Given the description of an element on the screen output the (x, y) to click on. 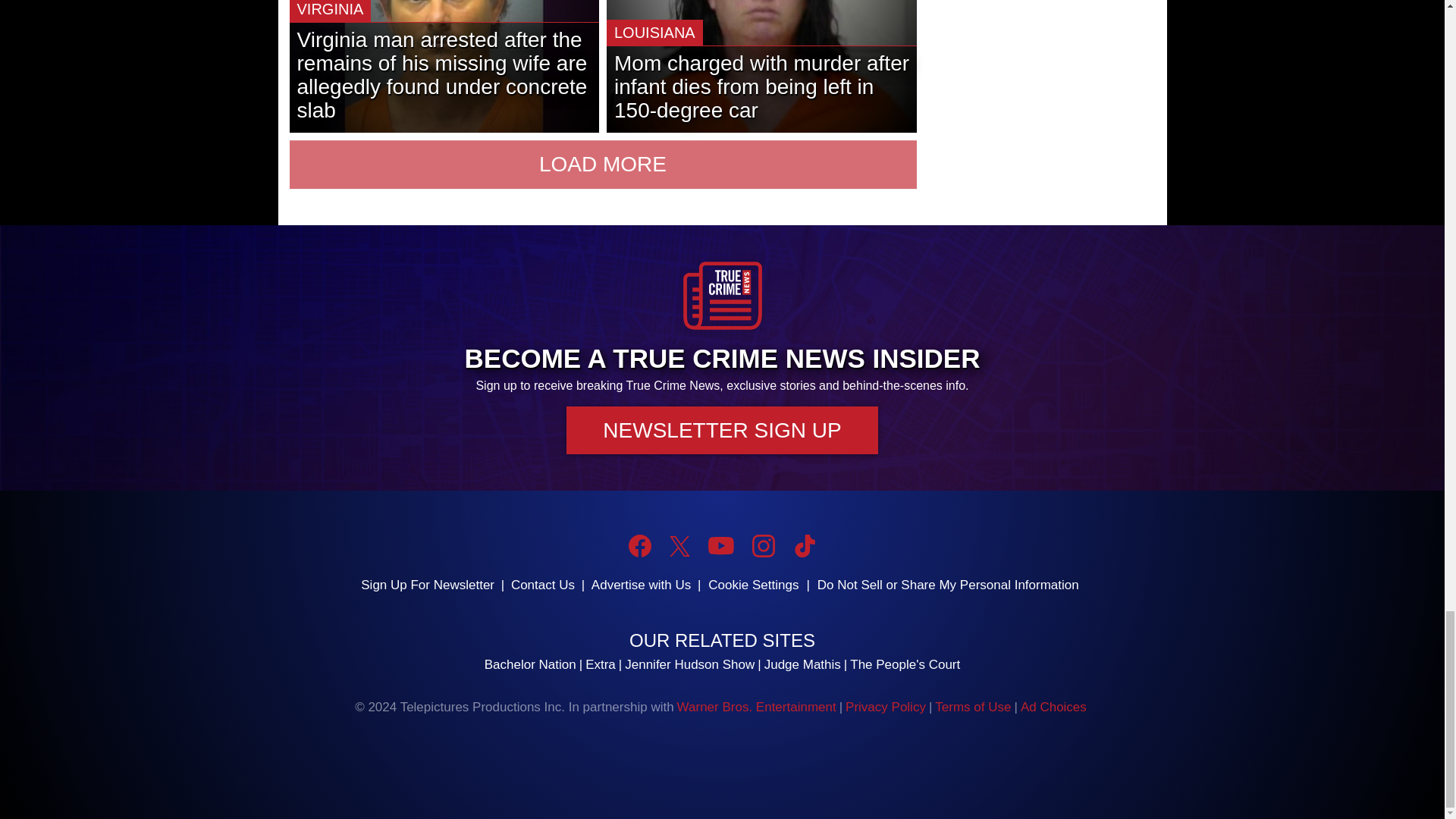
TikTok (804, 545)
Facebook (639, 545)
Twitter (679, 546)
Instagram (763, 545)
YouTube (720, 546)
